Given the description of an element on the screen output the (x, y) to click on. 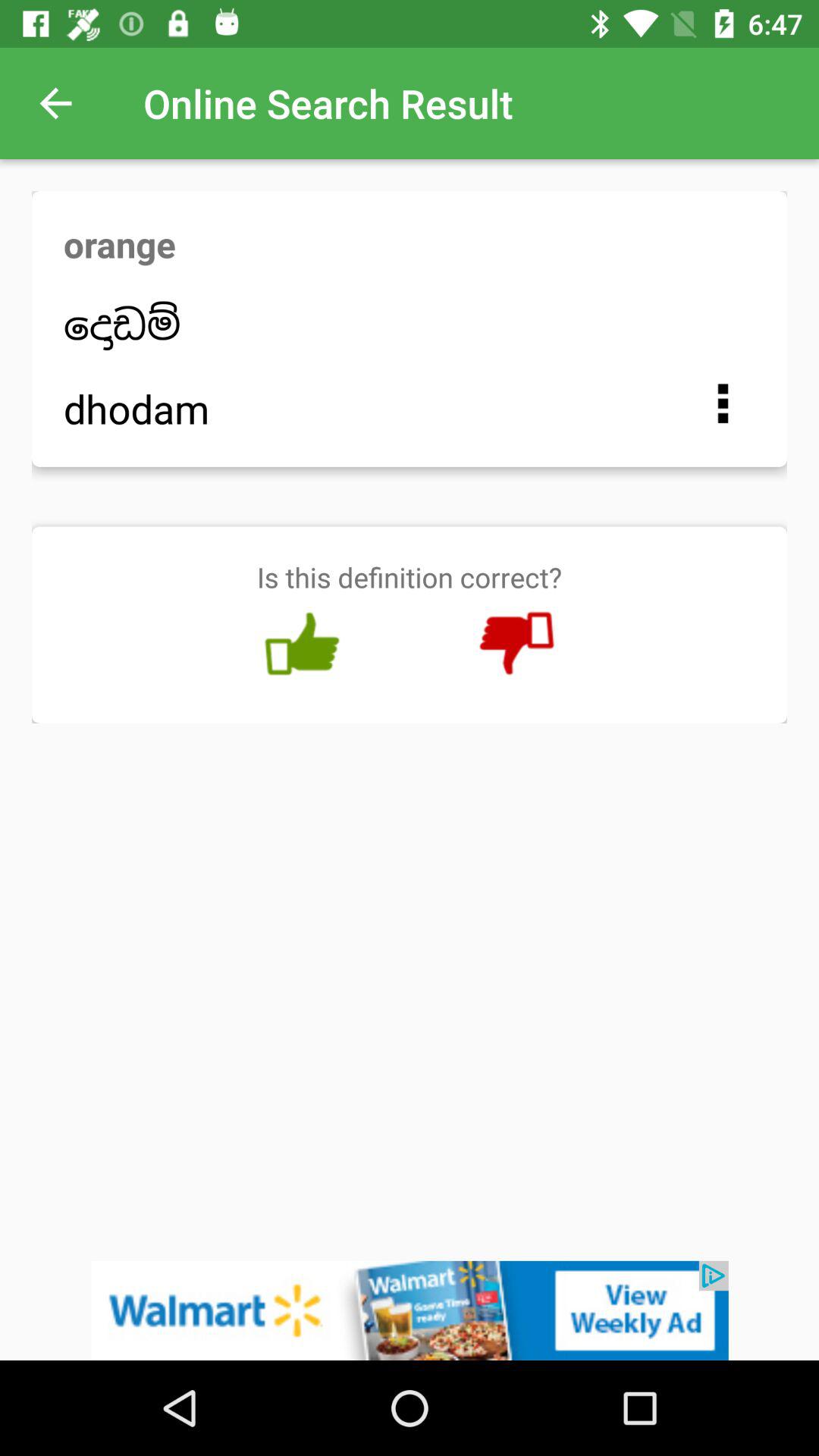
go to like (301, 643)
